Given the description of an element on the screen output the (x, y) to click on. 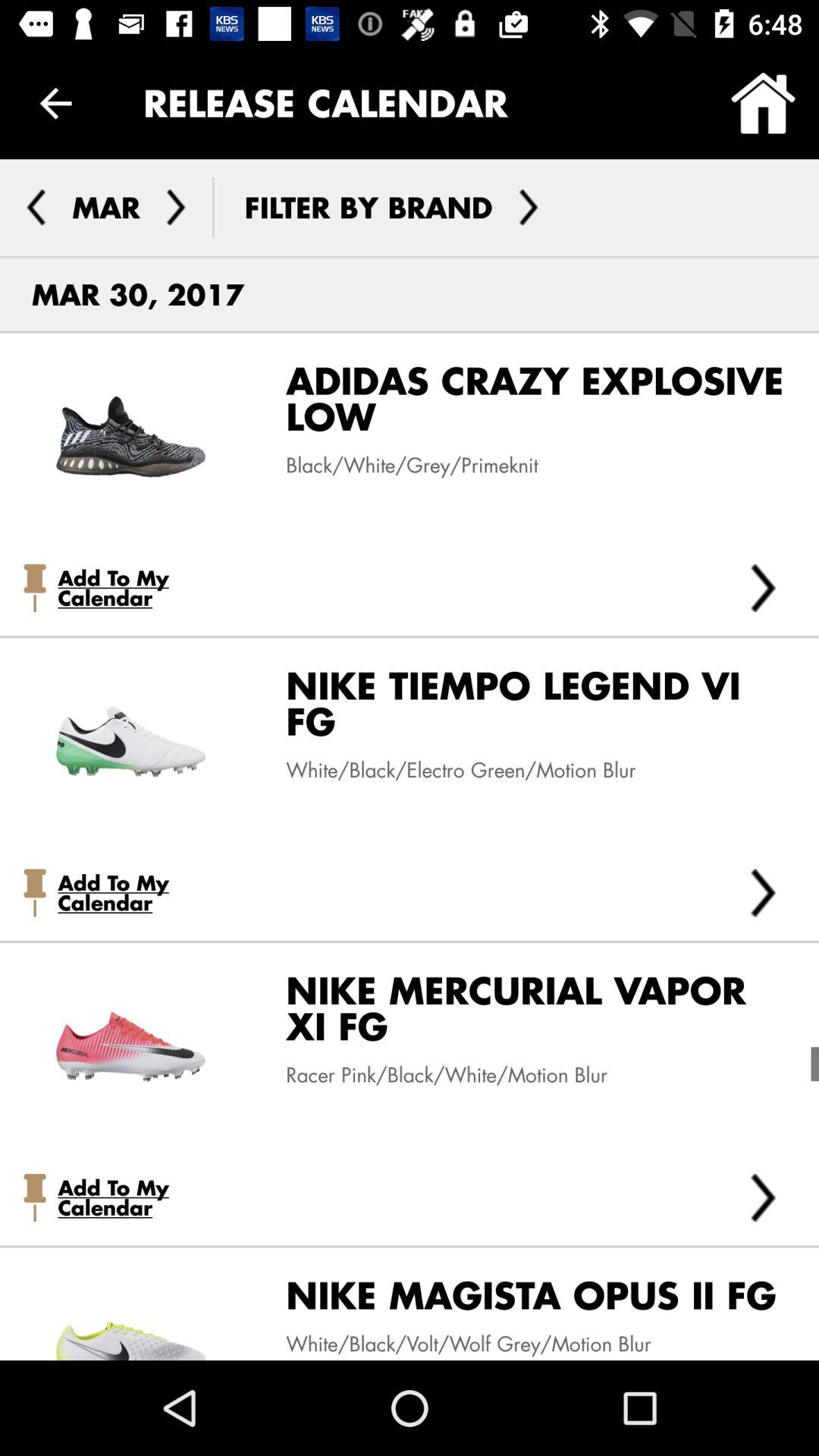
turn on icon above nike tiempo legend (763, 587)
